Given the description of an element on the screen output the (x, y) to click on. 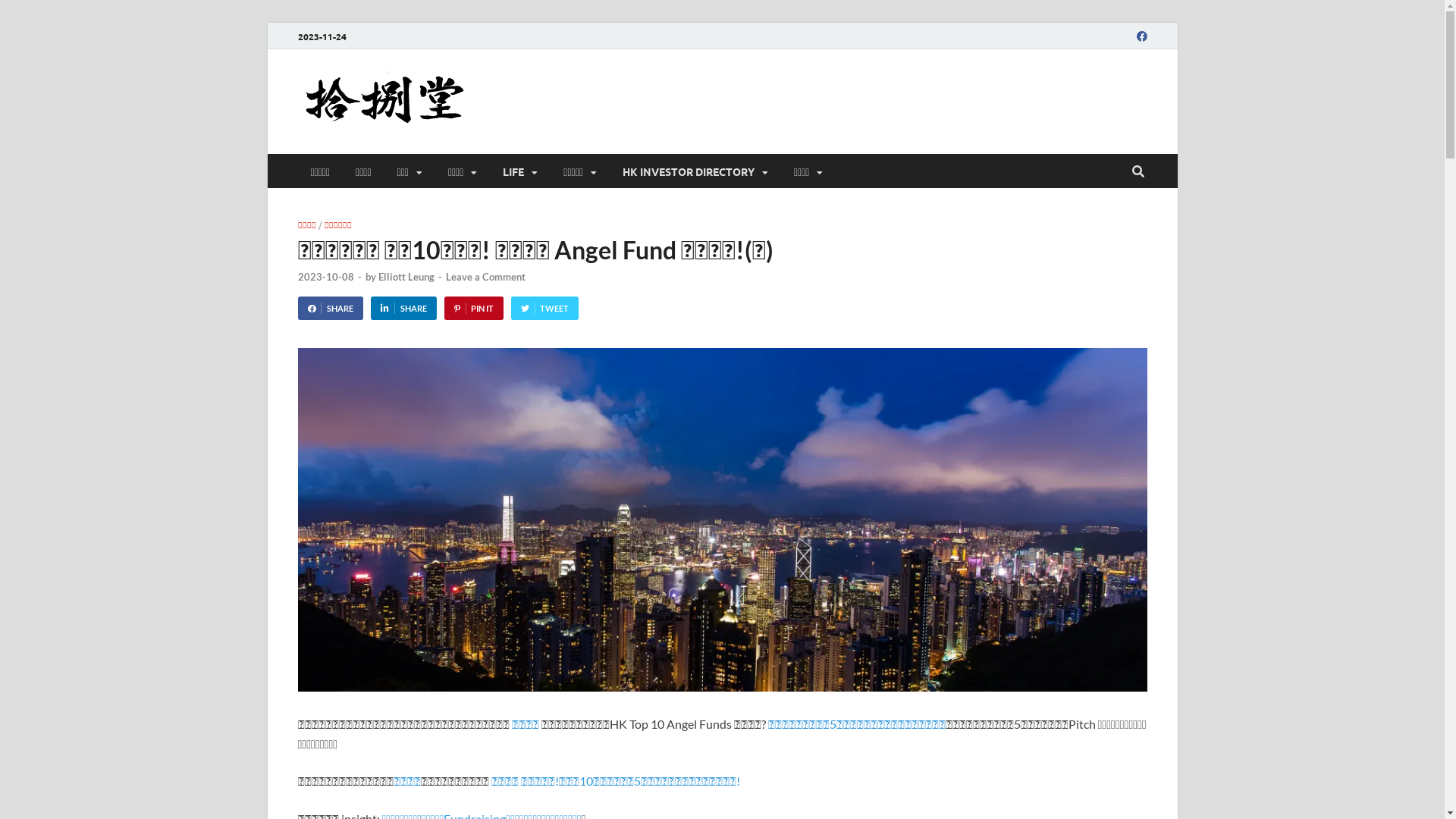
HK INVESTOR DIRECTORY Element type: text (695, 170)
LIFE Element type: text (519, 170)
PIN IT Element type: text (473, 308)
TWEET Element type: text (544, 308)
2023-10-08 Element type: text (325, 276)
Elliott Leung Element type: text (405, 276)
Leave a Comment Element type: text (485, 276)
SHARE Element type: text (403, 308)
SHARE Element type: text (329, 308)
